Given the description of an element on the screen output the (x, y) to click on. 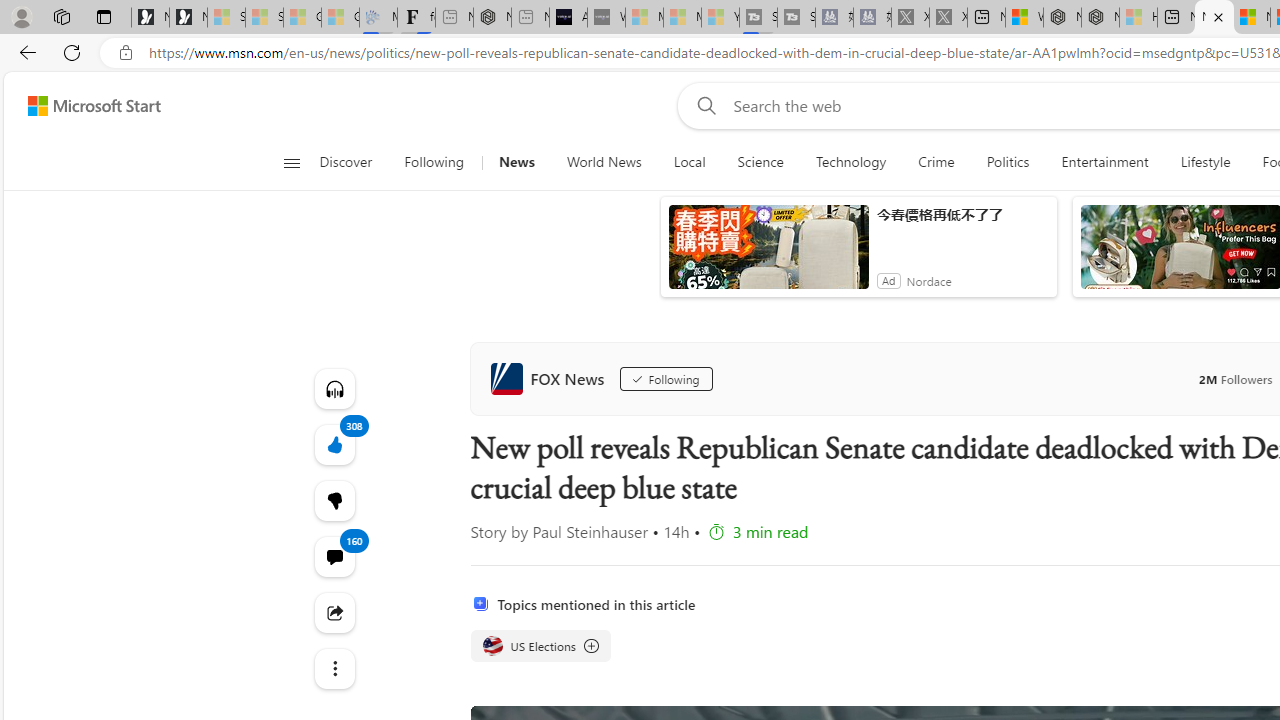
Skip to footer (82, 105)
anim-content (768, 255)
Entertainment (1105, 162)
US Elections (539, 645)
News (516, 162)
Microsoft Start - Sleeping (682, 17)
Listen to this article (333, 388)
Politics (1007, 162)
World News (603, 162)
